Given the description of an element on the screen output the (x, y) to click on. 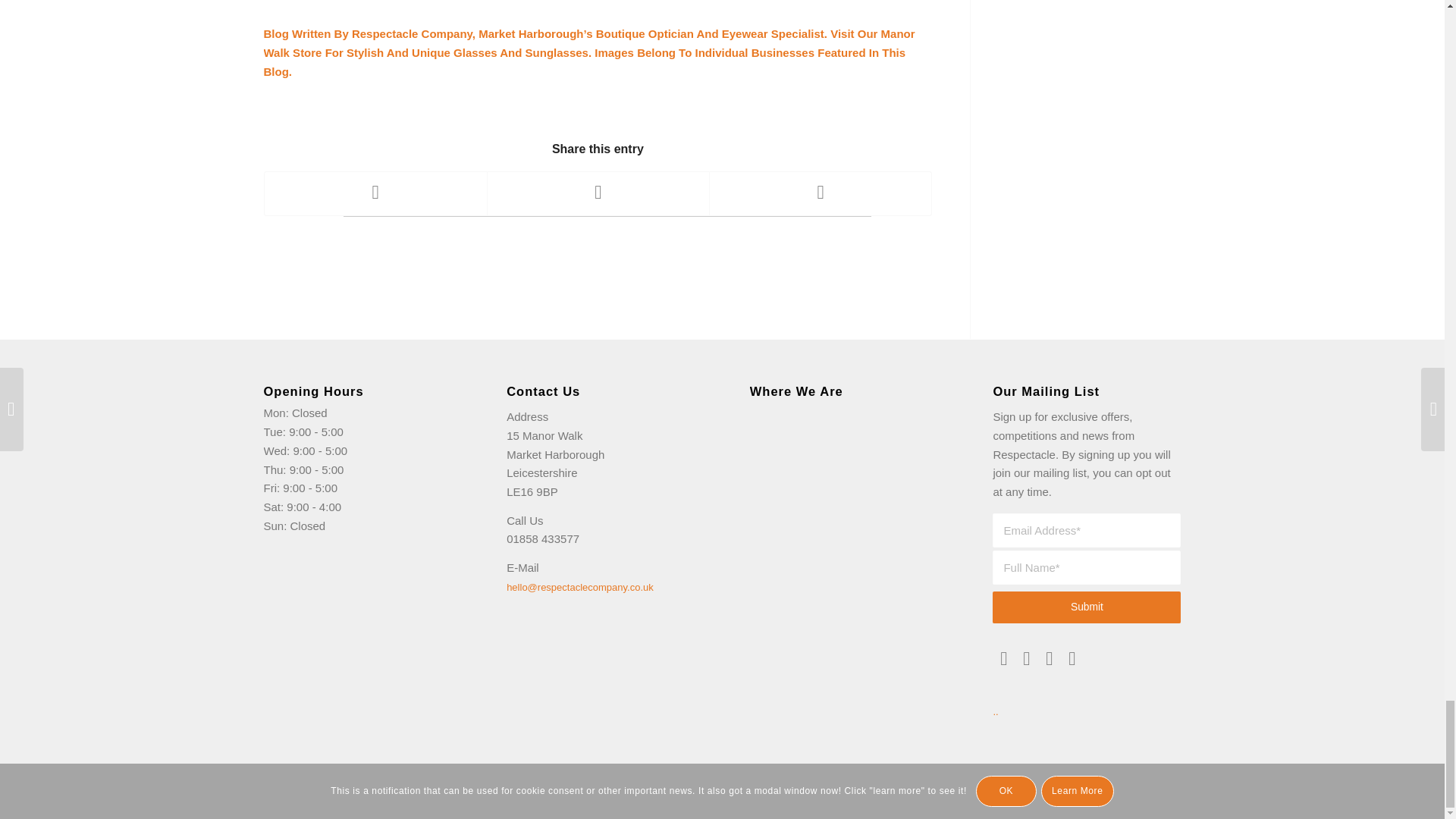
Submit (1086, 607)
Mail (1003, 658)
Twitter (1025, 658)
Facebook (1048, 658)
Instagram (1072, 658)
